Given the description of an element on the screen output the (x, y) to click on. 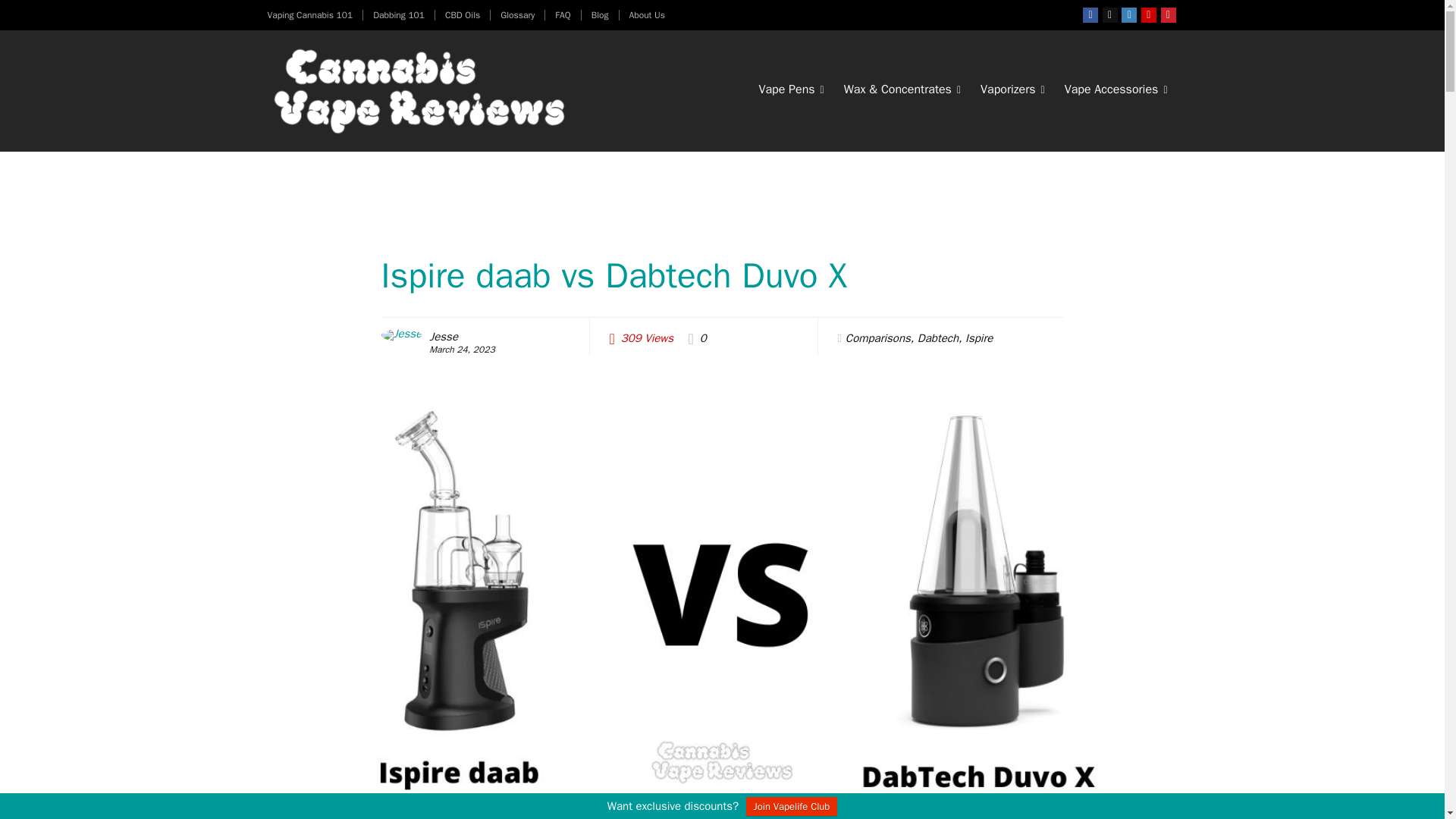
FAQ (562, 15)
View all posts in Comparisons (878, 337)
Vaping Cannabis 101 (309, 15)
Vape Pens (790, 90)
Dabbing 101 (398, 15)
About Us (646, 15)
CBD Oils (462, 15)
twitter (1110, 14)
Facebook (1090, 14)
Vape Accessories (1115, 90)
Pinterest (1167, 14)
Youtube (1148, 14)
Instagramm (1129, 14)
Glossary (517, 15)
View all posts in Ispire (978, 337)
